Given the description of an element on the screen output the (x, y) to click on. 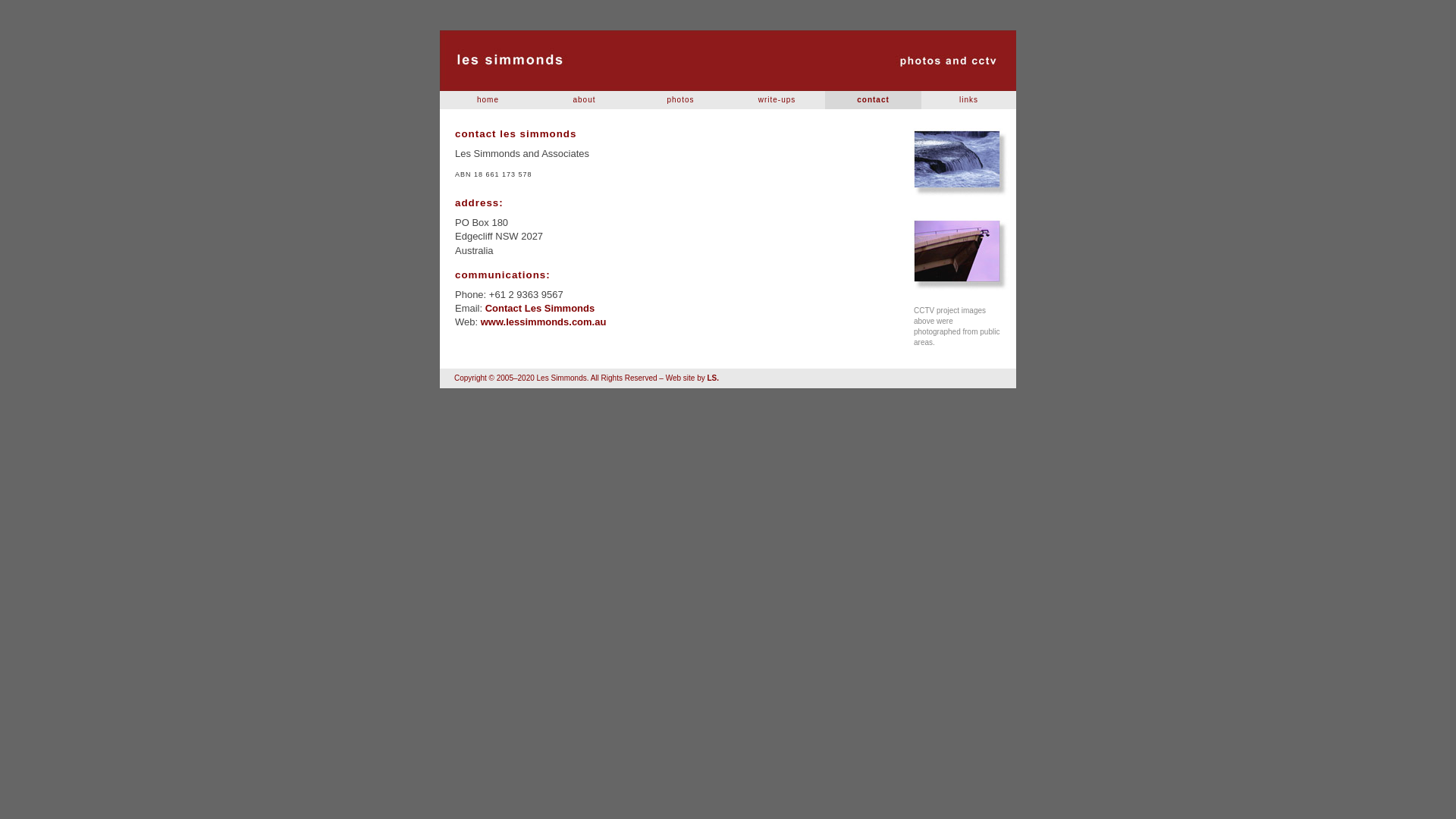
write-ups Element type: text (776, 100)
contact Element type: text (873, 100)
photos Element type: text (680, 100)
links Element type: text (968, 100)
Contact Les Simmonds Element type: hover (727, 60)
home Element type: text (487, 100)
about Element type: text (584, 100)
LS. Element type: text (712, 377)
Contact Les Simmonds Element type: text (539, 307)
www.lessimmonds.com.au Element type: text (543, 321)
